Given the description of an element on the screen output the (x, y) to click on. 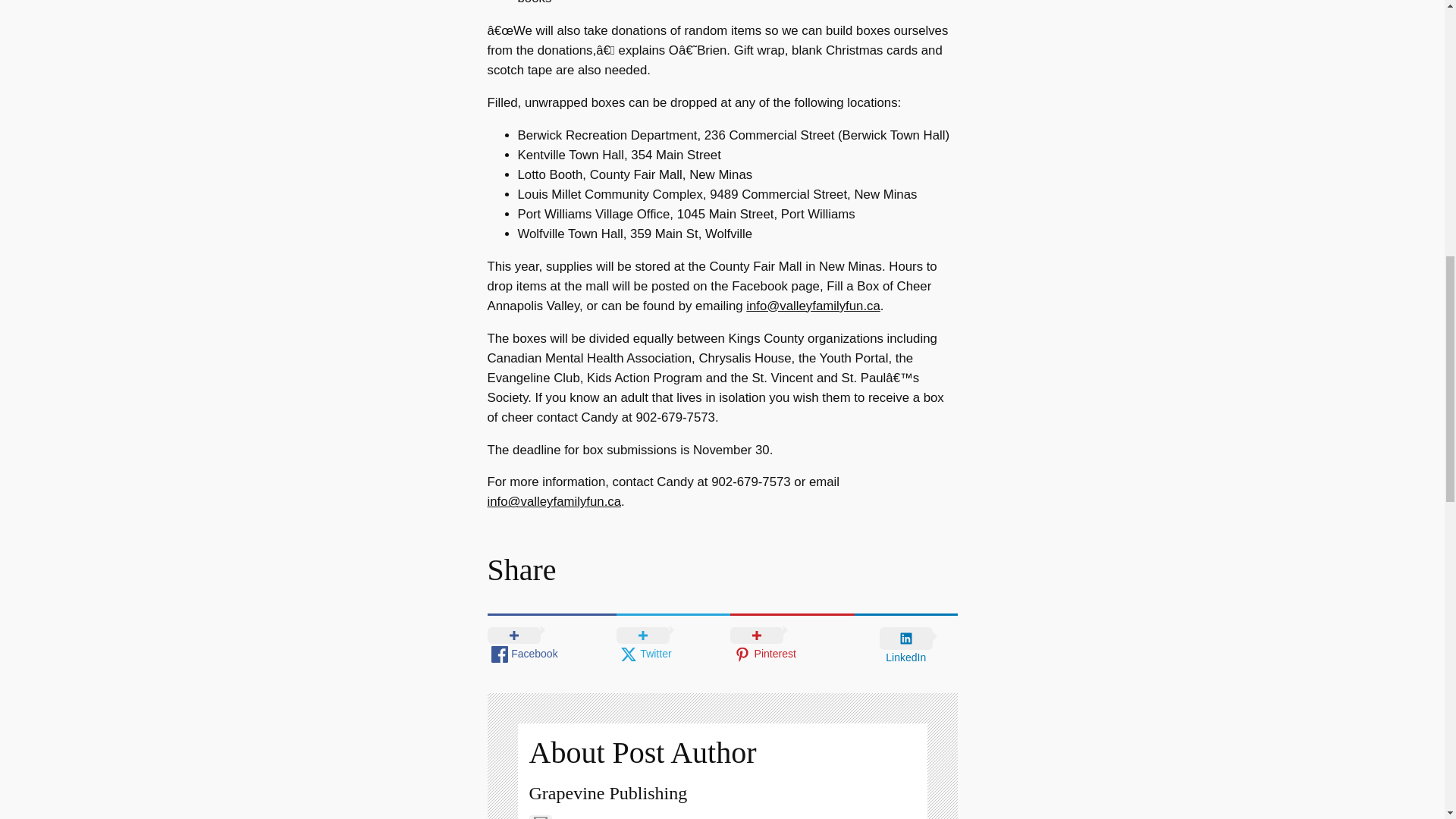
Twitter (672, 643)
Pinterest (792, 643)
Grapevine Publishing (608, 792)
Facebook (550, 643)
LinkedIn (906, 645)
